Given the description of an element on the screen output the (x, y) to click on. 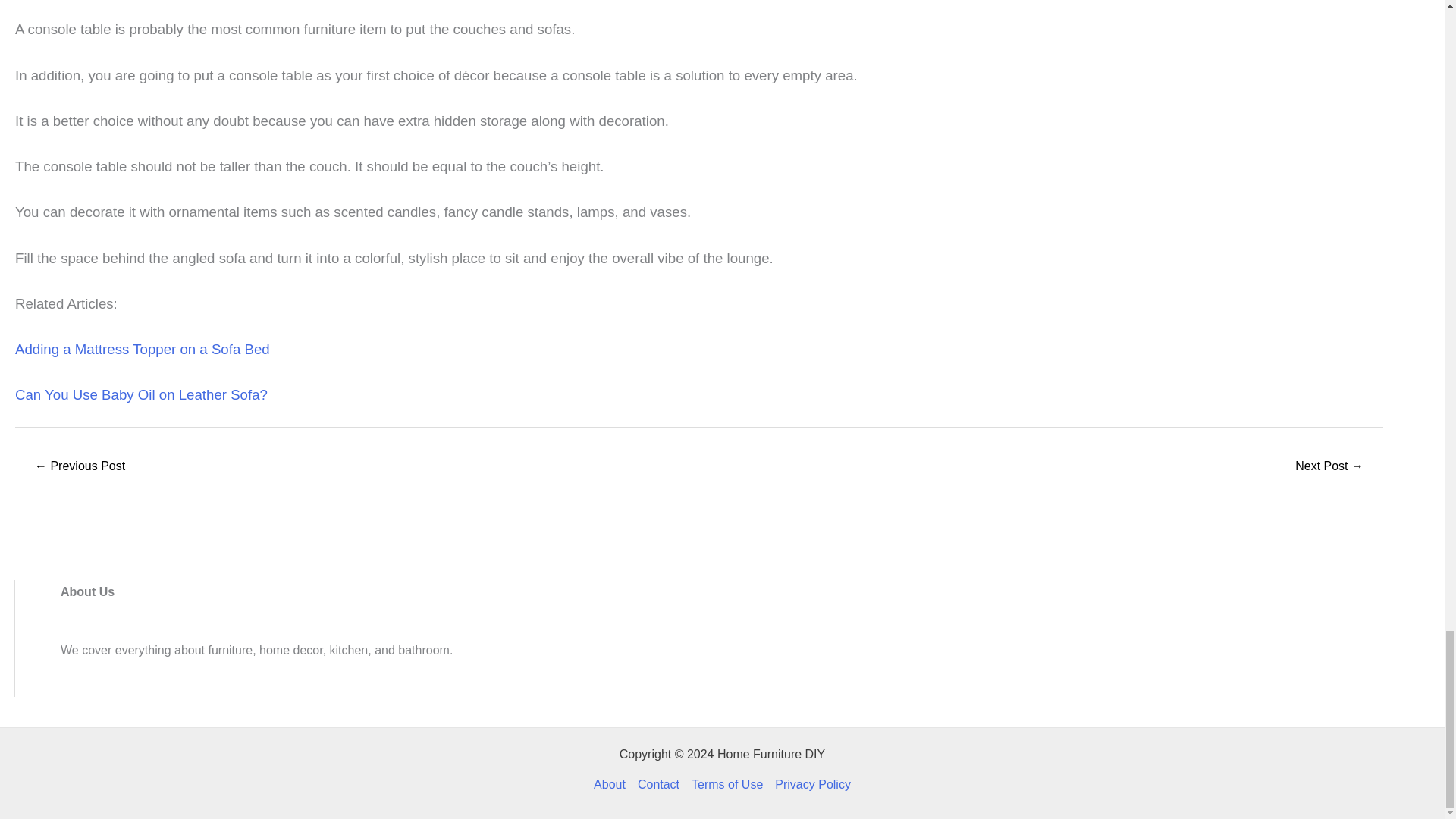
Terms of Use (726, 784)
Privacy Policy (809, 784)
Where Do Furniture Stores Get Their Furniture? (79, 467)
Adding a Mattress Topper on a Sofa Bed (141, 349)
Can You Put a Sofa Table Behind Two Chairs? (1328, 467)
About (612, 784)
Can You Use Baby Oil on Leather Sofa? (140, 394)
Contact (658, 784)
